Given the description of an element on the screen output the (x, y) to click on. 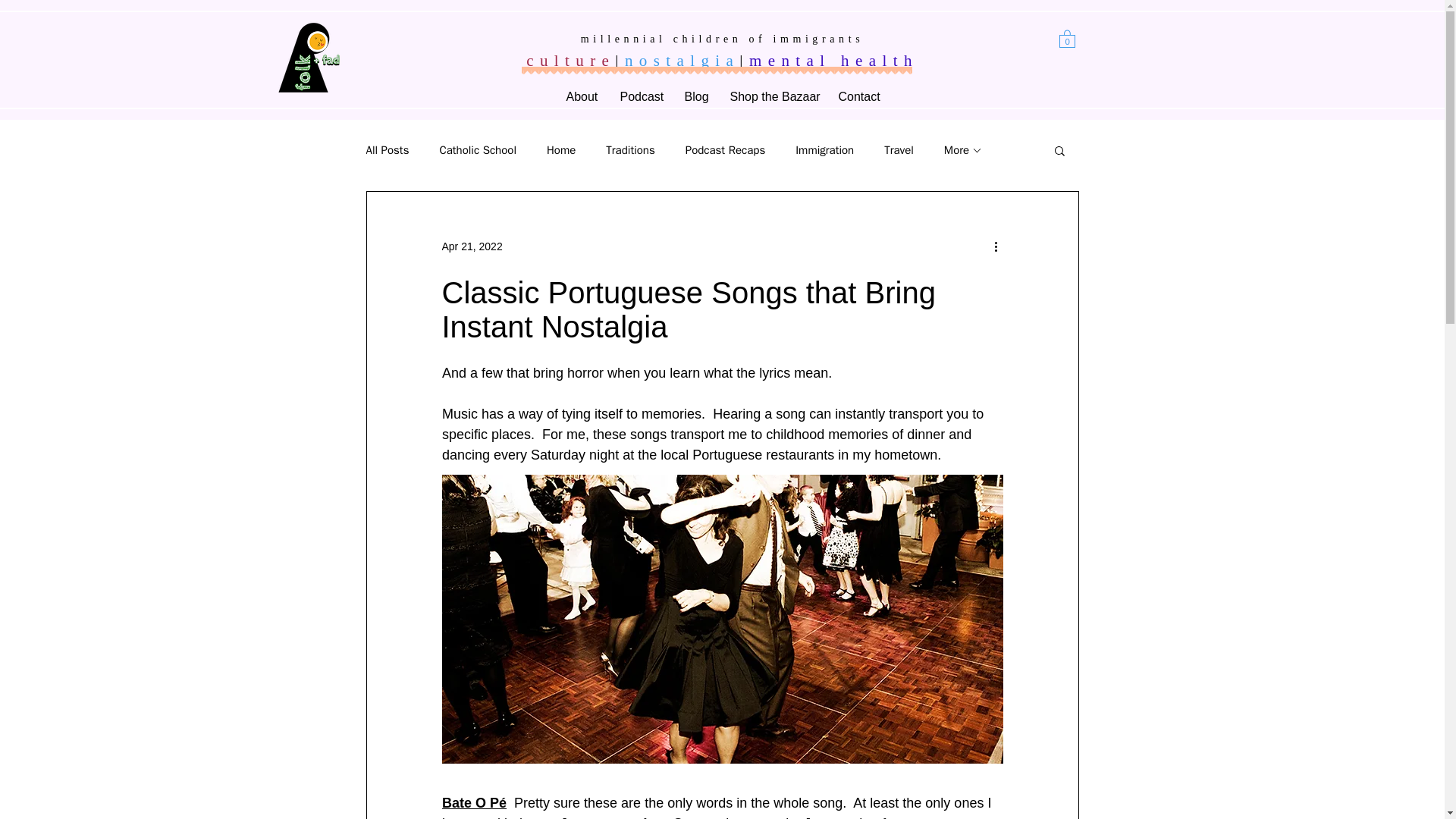
Classic Portuguese Songs that Bring Instant Nostalgia (687, 309)
Podcast (640, 96)
Travel (898, 149)
logo transparent.png (311, 57)
About (581, 96)
Traditions (629, 149)
Apr 21, 2022 (471, 246)
Blog (695, 96)
All Posts (387, 149)
Immigration (823, 149)
